Given the description of an element on the screen output the (x, y) to click on. 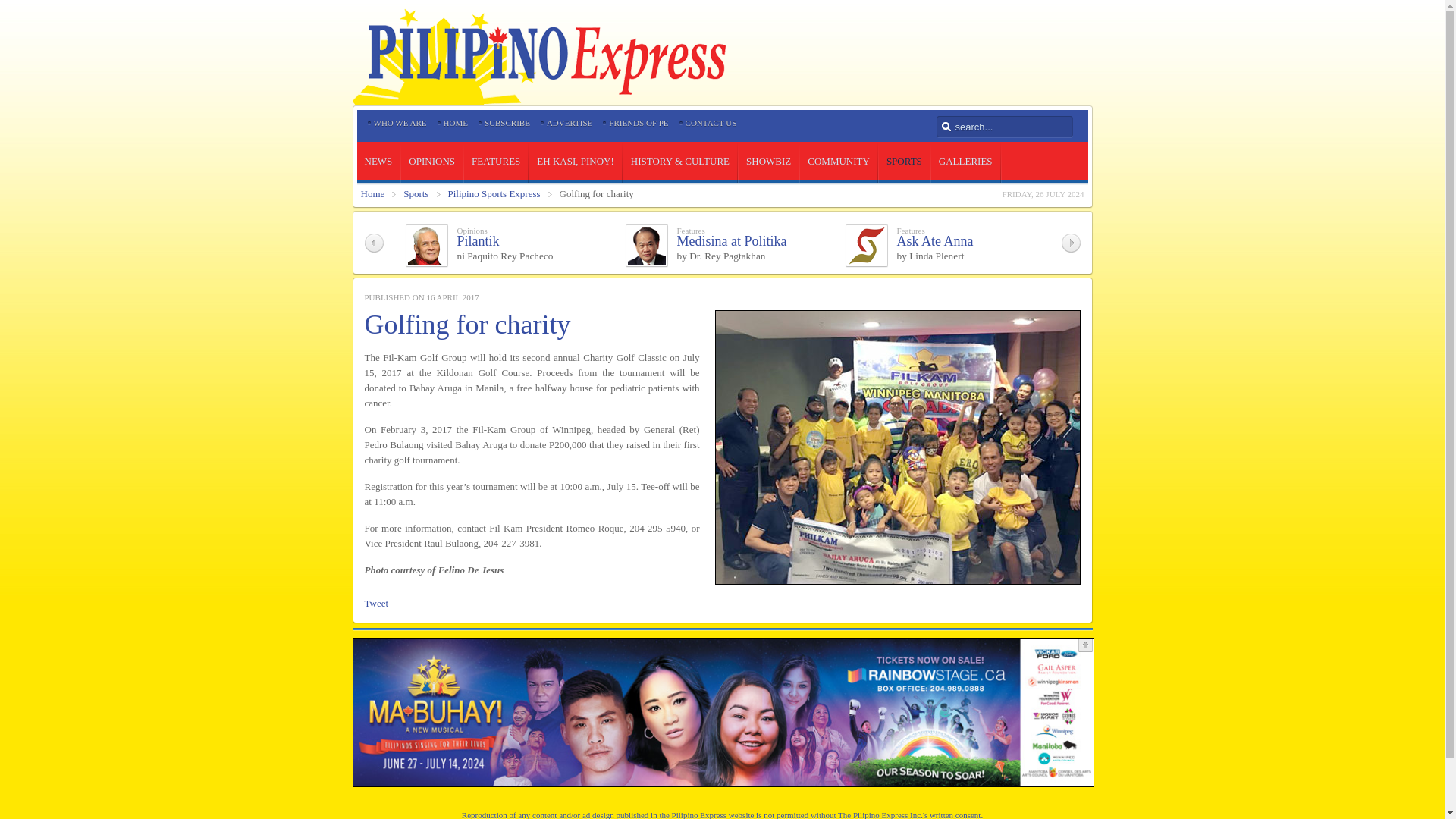
EH KASI, PINOY! (575, 160)
CONTACT US (710, 122)
FEATURES (495, 160)
HOME (455, 122)
NEWS (377, 160)
OPINIONS (432, 160)
SUBSCRIBE (506, 122)
ADVERTISE (569, 122)
Reset (3, 2)
WHO WE ARE (399, 122)
FRIENDS OF PE (638, 122)
